Given the description of an element on the screen output the (x, y) to click on. 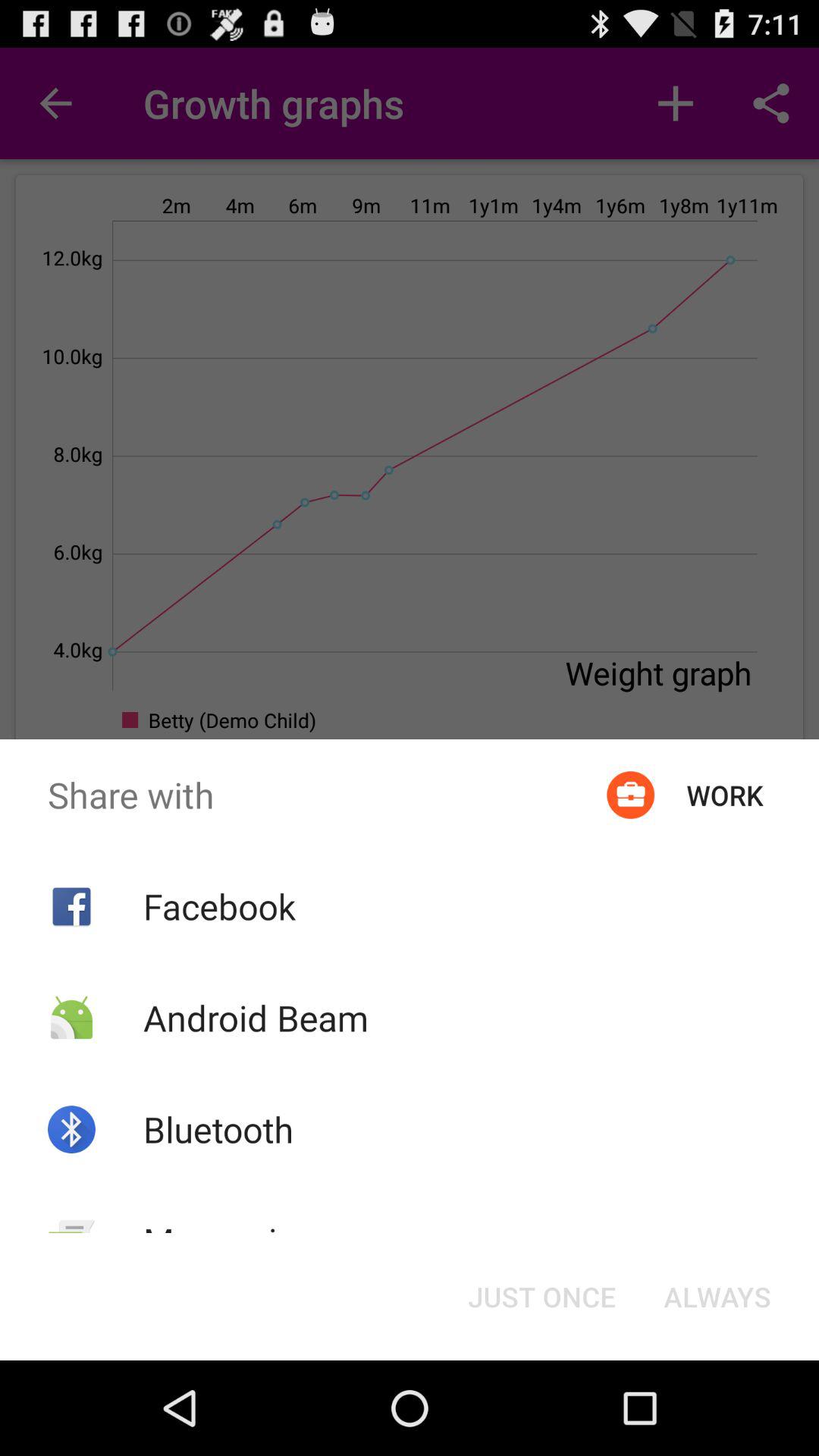
turn off item at the bottom right corner (717, 1296)
